Given the description of an element on the screen output the (x, y) to click on. 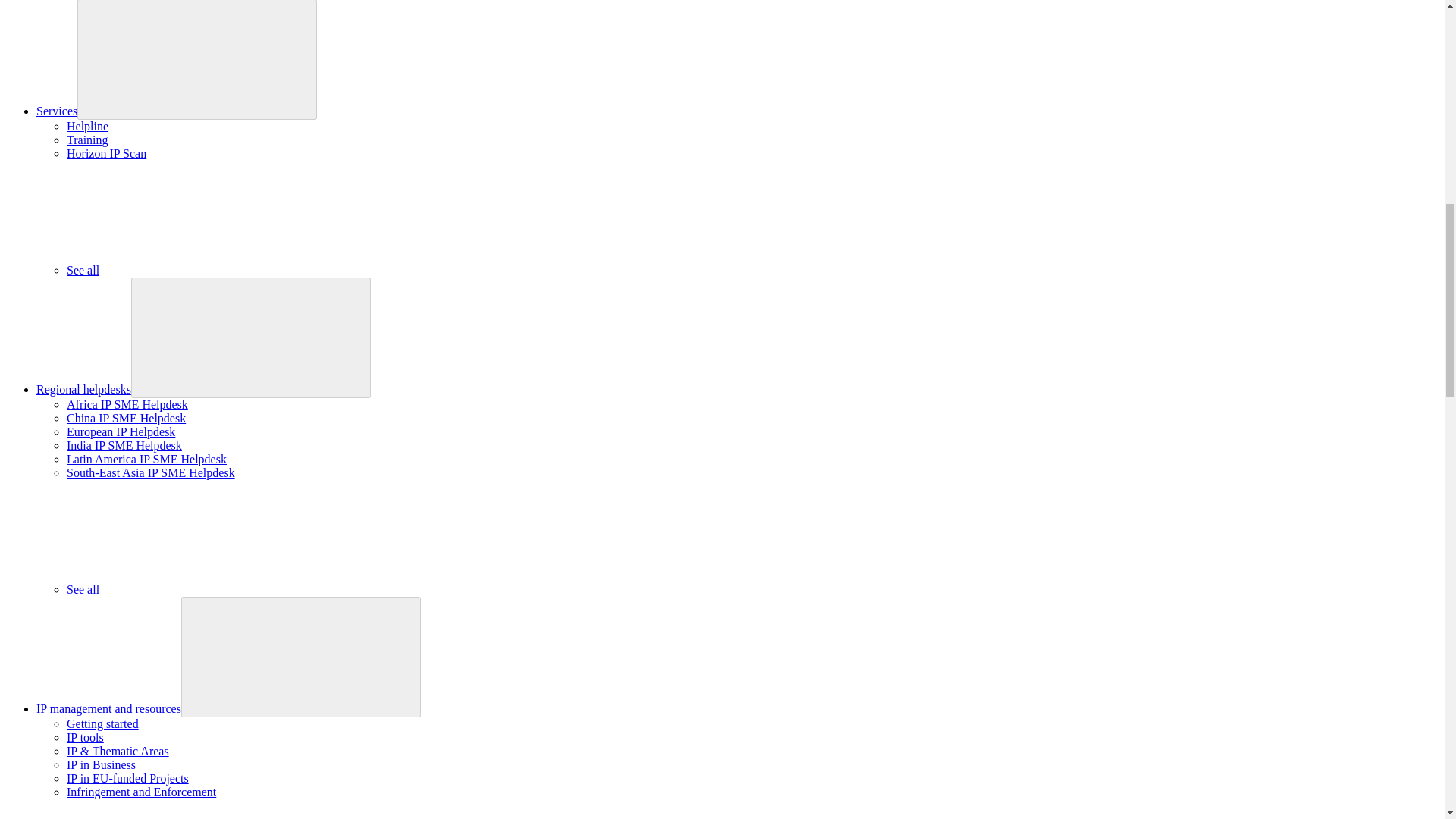
Helpline (86, 125)
Horizon IP Scan (106, 153)
IP in Business (100, 764)
See all (196, 589)
Training (86, 139)
IP tools (84, 737)
China IP SME Helpdesk (126, 418)
Latin America IP SME Helpdesk (146, 459)
Infringement and Enforcement (140, 791)
Services (56, 110)
See all (196, 269)
European IP Helpdesk (120, 431)
Getting started (102, 723)
IP in EU-funded Projects (127, 778)
Africa IP SME Helpdesk (126, 404)
